Given the description of an element on the screen output the (x, y) to click on. 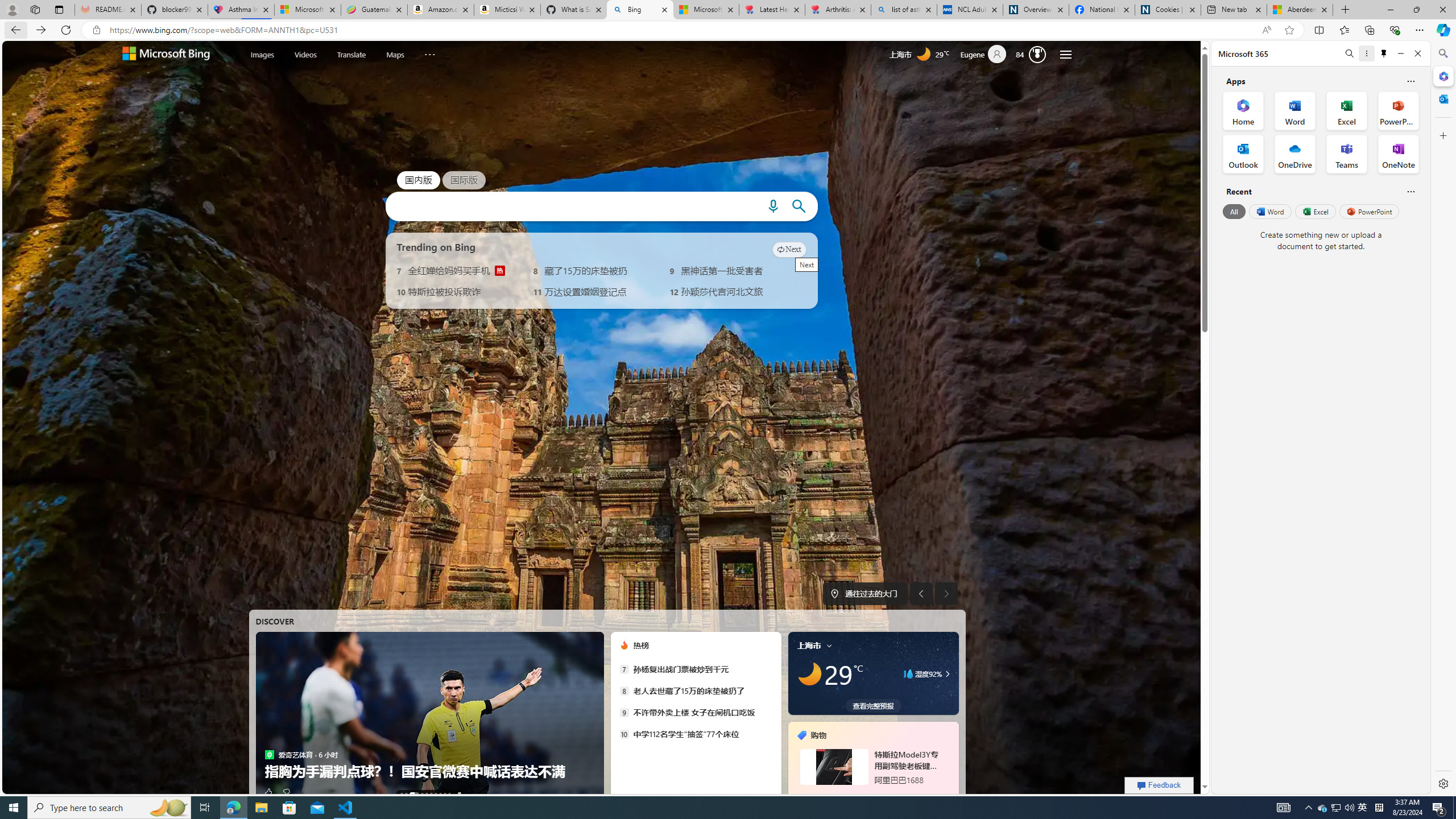
AutomationID: tab-4 (426, 793)
Excel Office App (1346, 110)
Enter your search term (572, 206)
Class: weather-arrow-glyph (946, 673)
Close Outlook pane (1442, 98)
Unpin side pane (1383, 53)
Class: scopes  (352, 53)
Cookies | About | NICE (1167, 9)
